Given the description of an element on the screen output the (x, y) to click on. 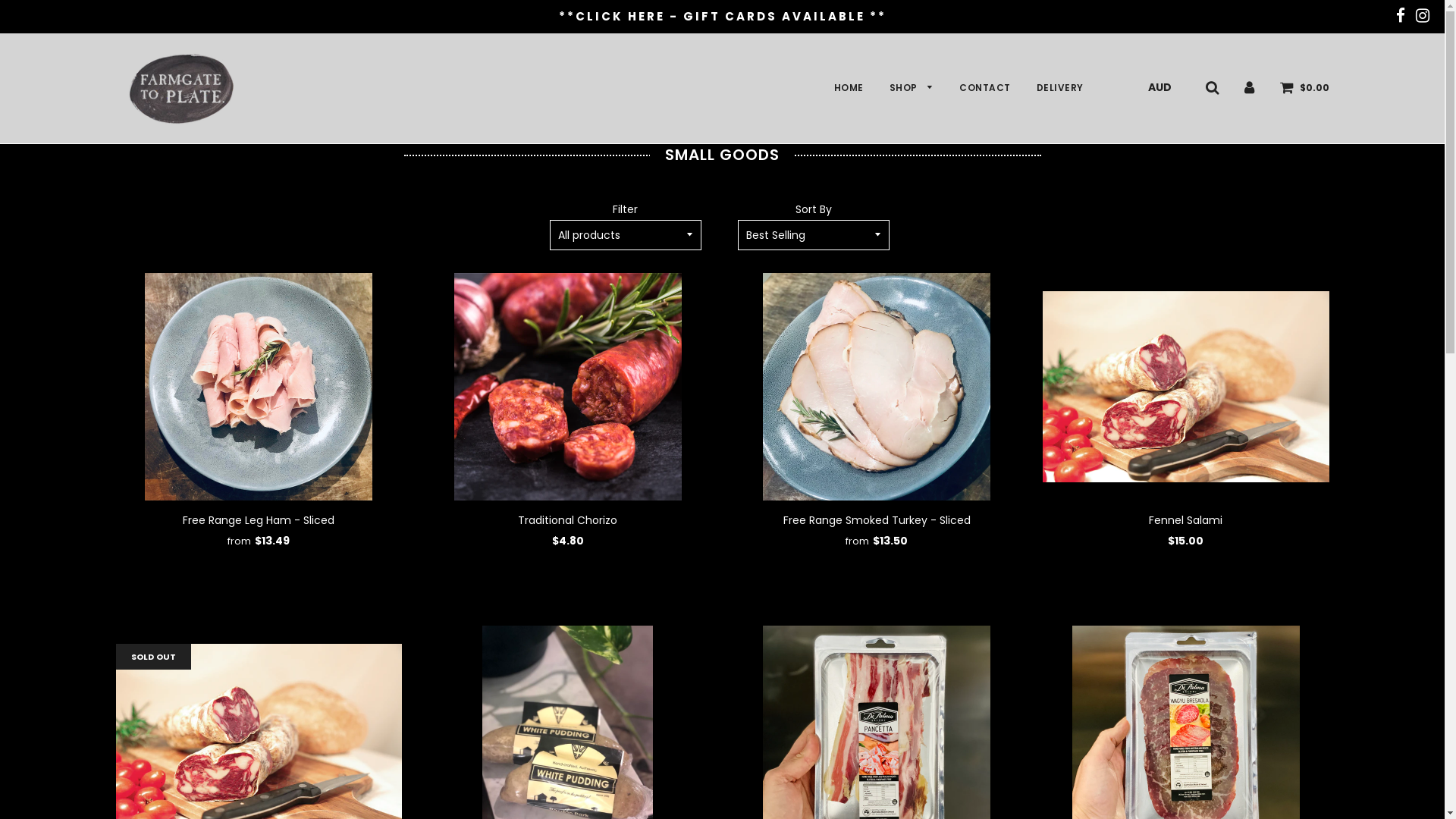
SHOP Element type: text (911, 88)
Free Range Leg Ham - Sliced Element type: text (258, 519)
Free Range Smoked Turkey - Sliced Element type: hover (877, 386)
Traditional Chorizo Element type: hover (567, 386)
Traditional Chorizo Element type: text (567, 519)
Fennel Salami Element type: text (1185, 519)
CONTACT Element type: text (984, 87)
Fennel Salami Element type: hover (1185, 386)
**CLICK HERE - GIFT CARDS AVAILABLE ** Element type: text (722, 16)
Log in Element type: hover (1248, 86)
DELIVERY Element type: text (1054, 87)
$0.00 Element type: text (1304, 86)
Free Range Smoked Turkey - Sliced Element type: text (876, 519)
HOME Element type: text (848, 87)
Free Range Leg Ham - Sliced Element type: hover (258, 386)
